Given the description of an element on the screen output the (x, y) to click on. 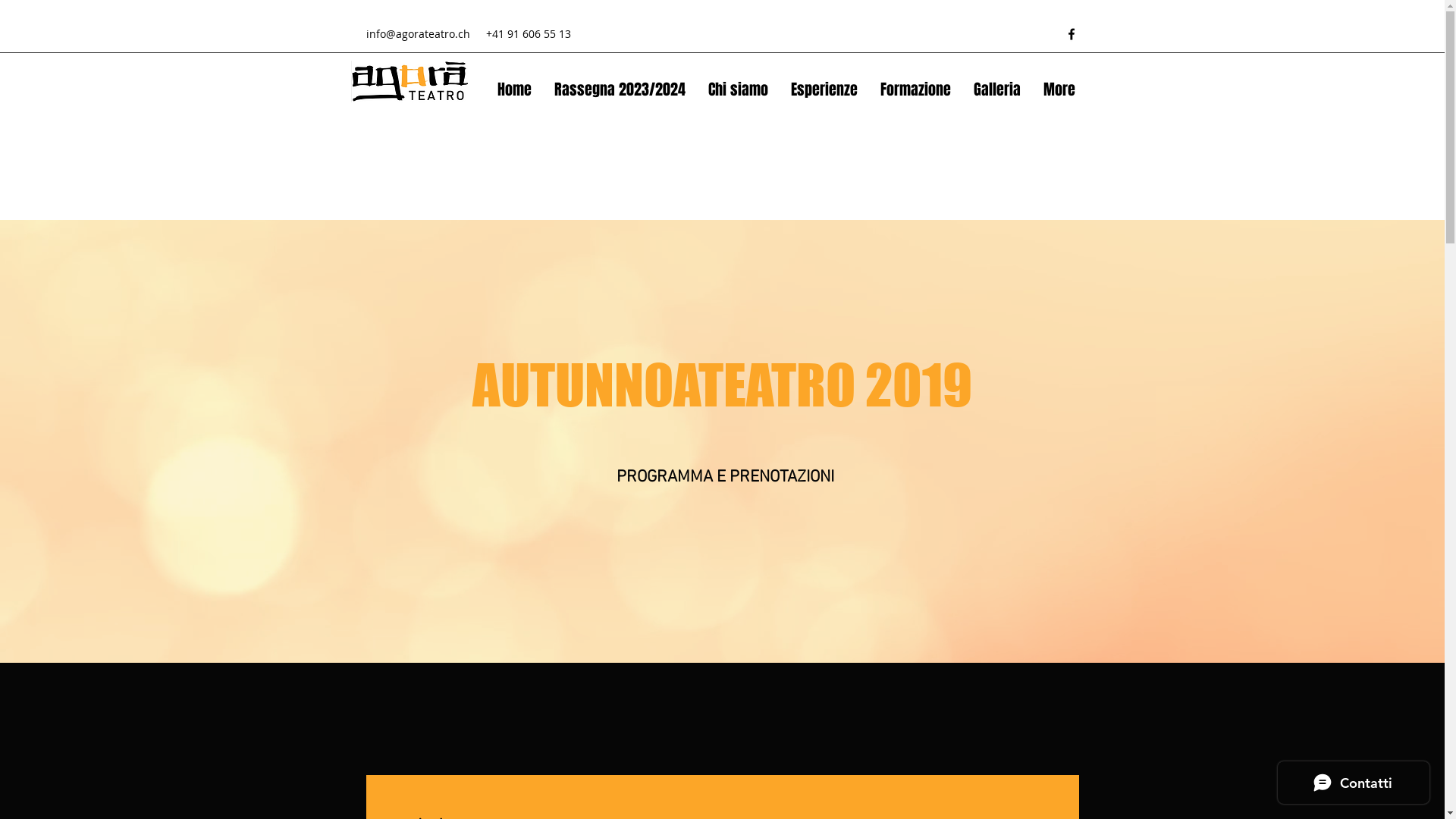
Home Element type: text (513, 89)
info@agorateatro.ch Element type: text (417, 33)
Formazione Element type: text (915, 89)
Esperienze Element type: text (824, 89)
Rassegna 2023/2024 Element type: text (619, 89)
Chi siamo Element type: text (737, 89)
Galleria Element type: text (996, 89)
